Given the description of an element on the screen output the (x, y) to click on. 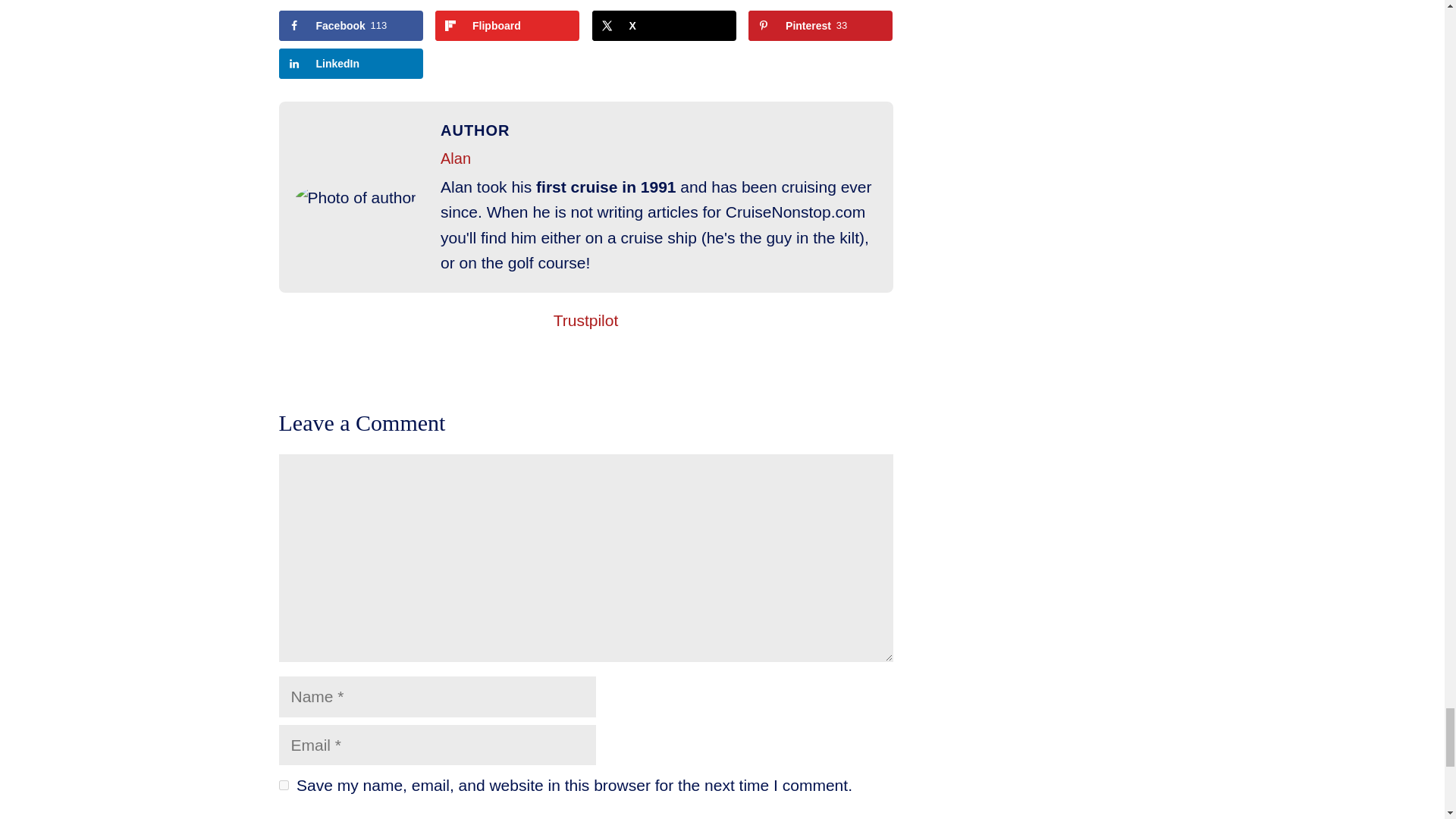
Save to Pinterest (820, 25)
yes (283, 785)
Share on Flipboard (507, 25)
Share on Facebook (351, 25)
Share on X (664, 25)
Share on LinkedIn (351, 63)
